Given the description of an element on the screen output the (x, y) to click on. 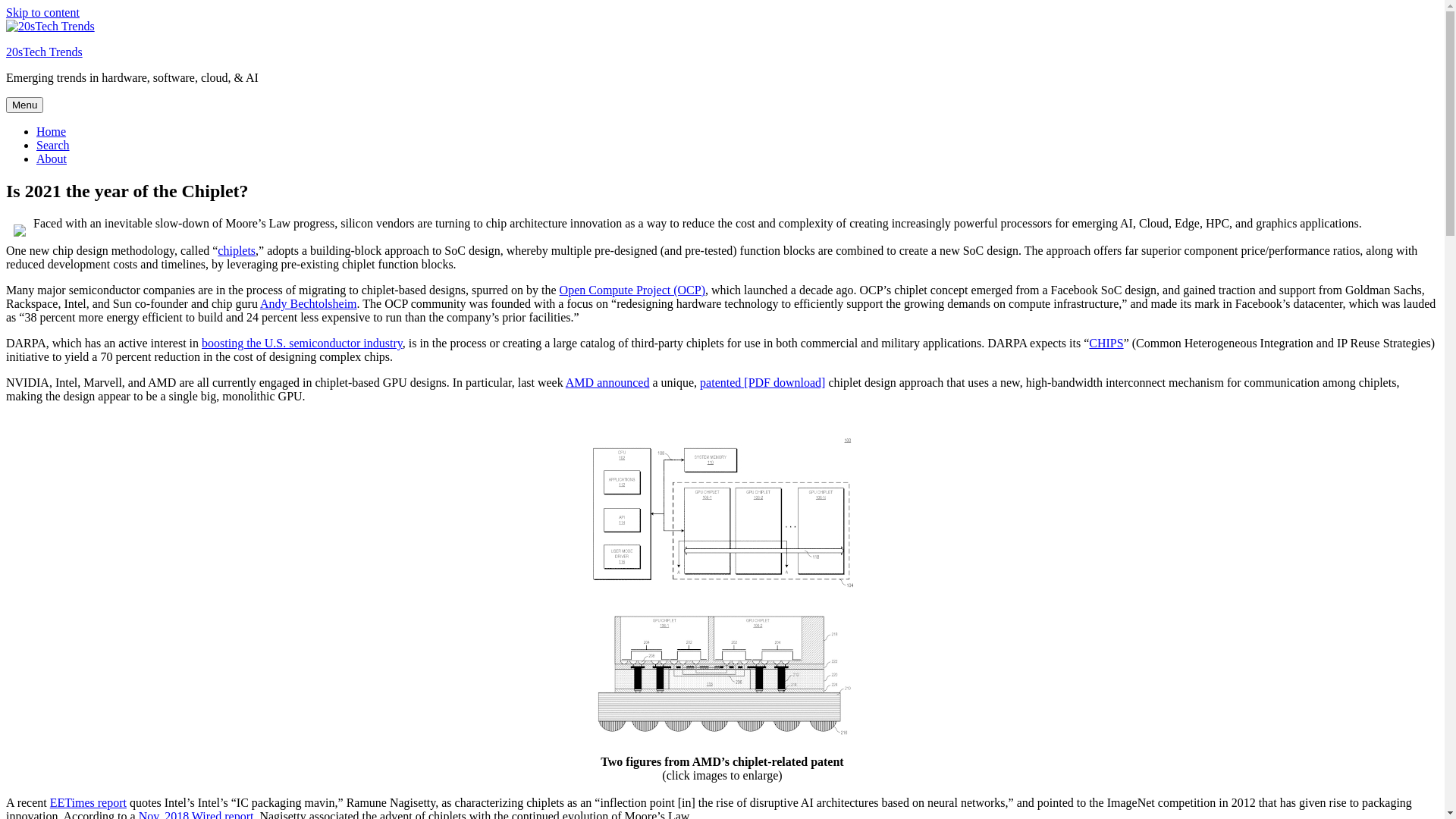
About Element type: text (51, 158)
EETimes report Element type: text (88, 802)
Home Element type: text (50, 131)
Andy Bechtolsheim Element type: text (308, 303)
chiplets Element type: text (236, 250)
20sTech Trends Element type: text (44, 51)
AMD announced Element type: text (607, 382)
Open Compute Project (OCP) Element type: text (632, 289)
CHIPS Element type: text (1105, 342)
Search Element type: text (52, 144)
boosting the U.S. semiconductor industry Element type: text (301, 342)
Skip to content Element type: text (42, 12)
Menu Element type: text (24, 104)
patented [PDF download] Element type: text (762, 382)
